Given the description of an element on the screen output the (x, y) to click on. 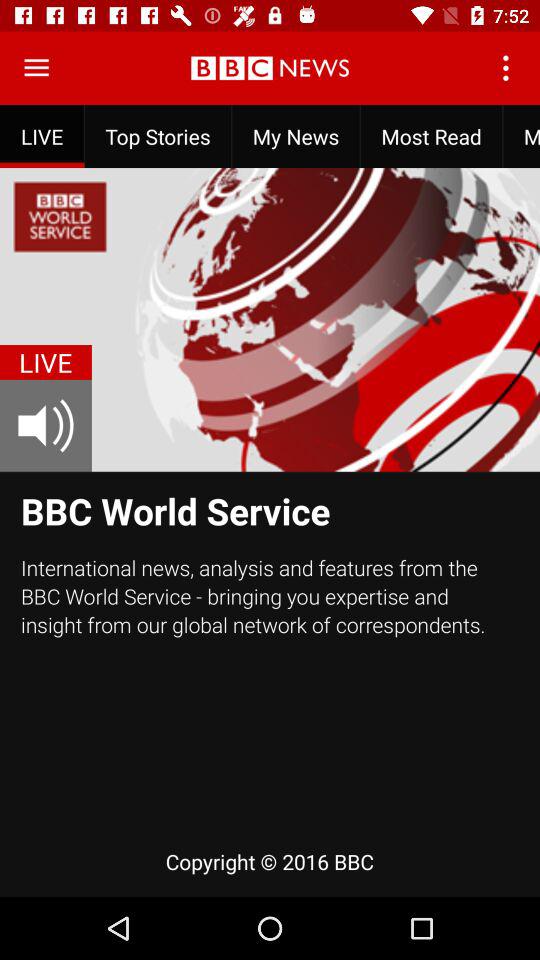
more appsation (36, 68)
